Given the description of an element on the screen output the (x, y) to click on. 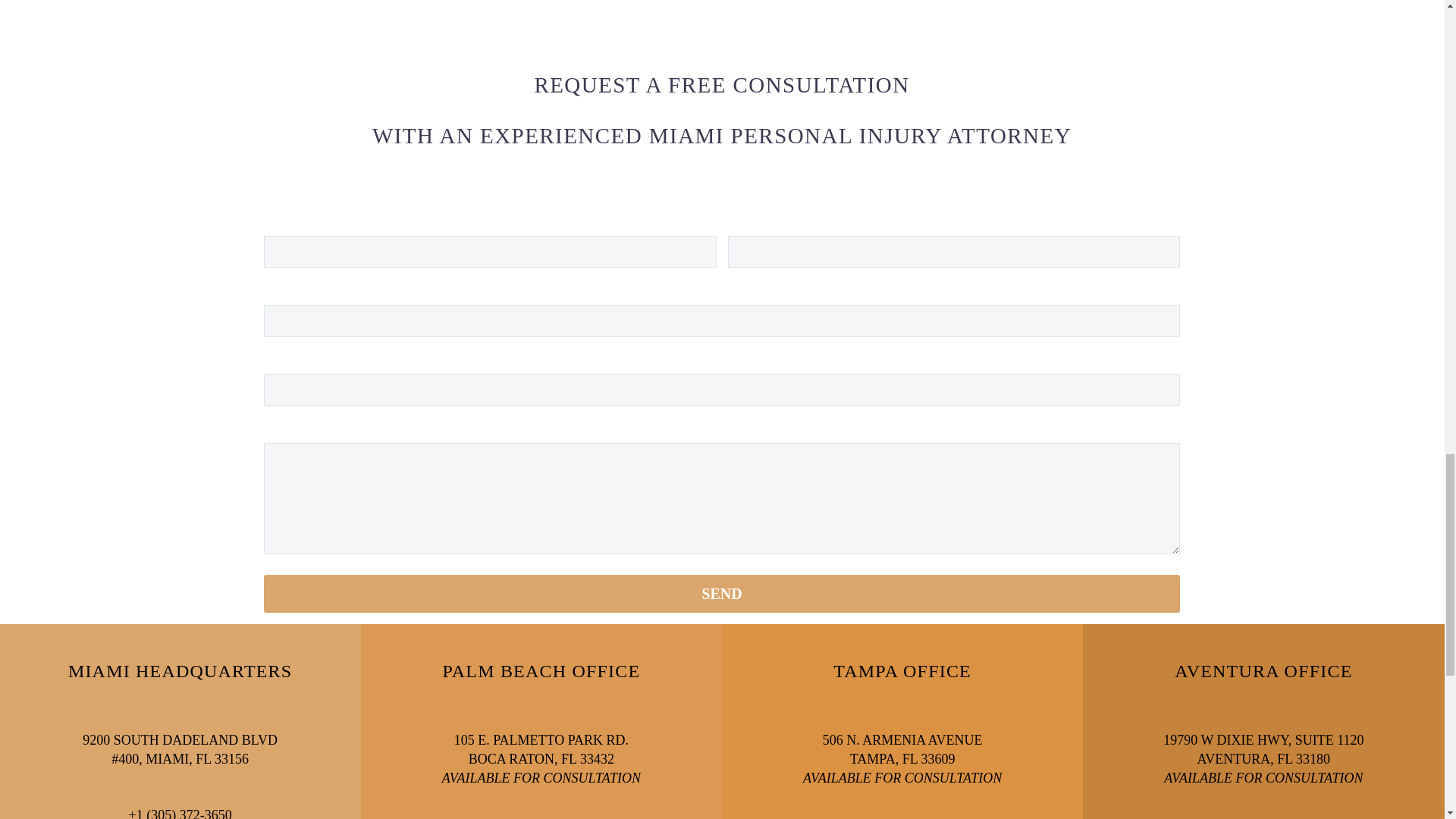
Send (721, 593)
